Given the description of an element on the screen output the (x, y) to click on. 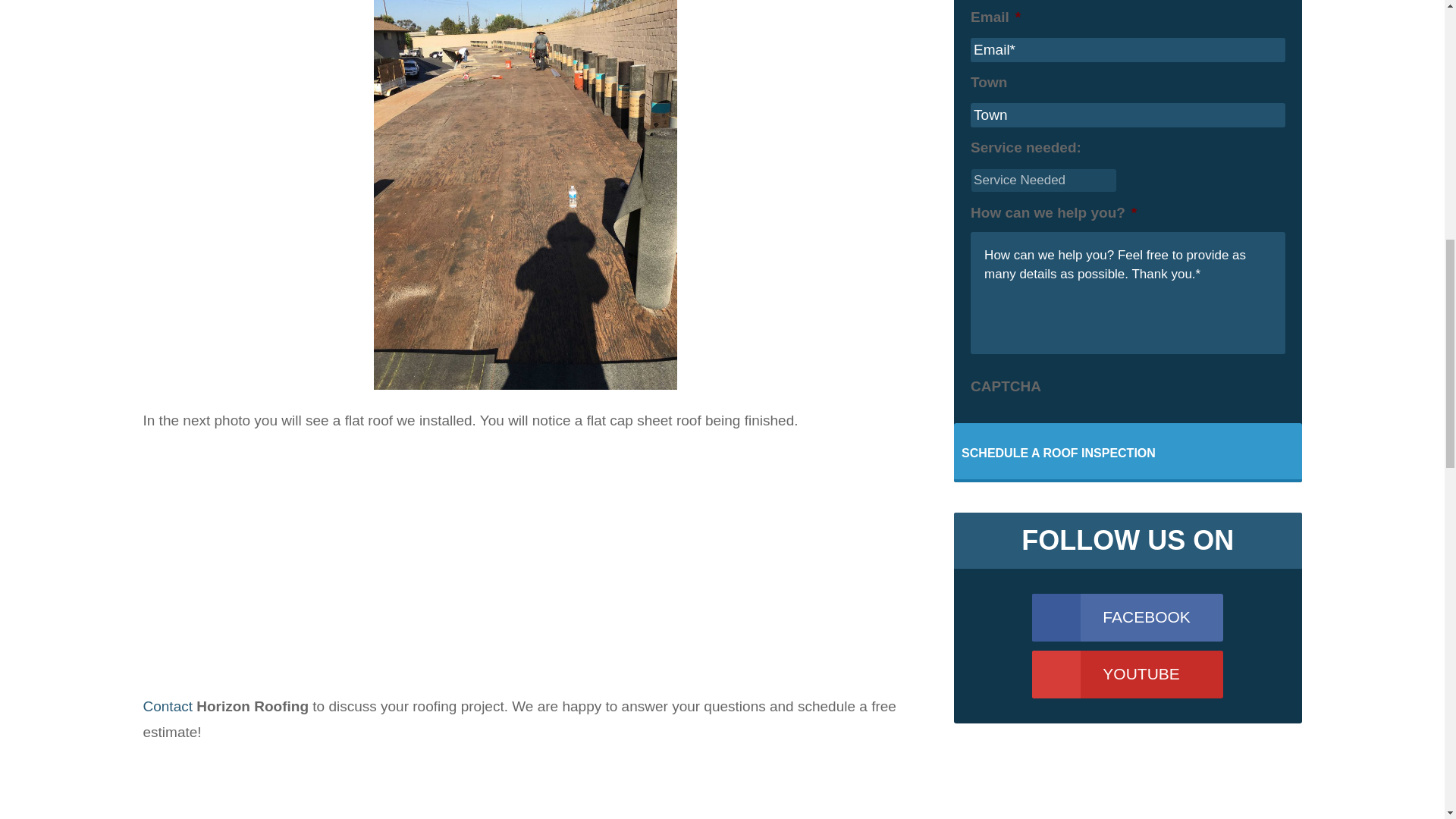
schedule a roof inspection (1058, 452)
schedule a roof inspection (1058, 452)
YOUTUBE (1127, 674)
Contact (167, 706)
FACEBOOK (1127, 617)
